Given the description of an element on the screen output the (x, y) to click on. 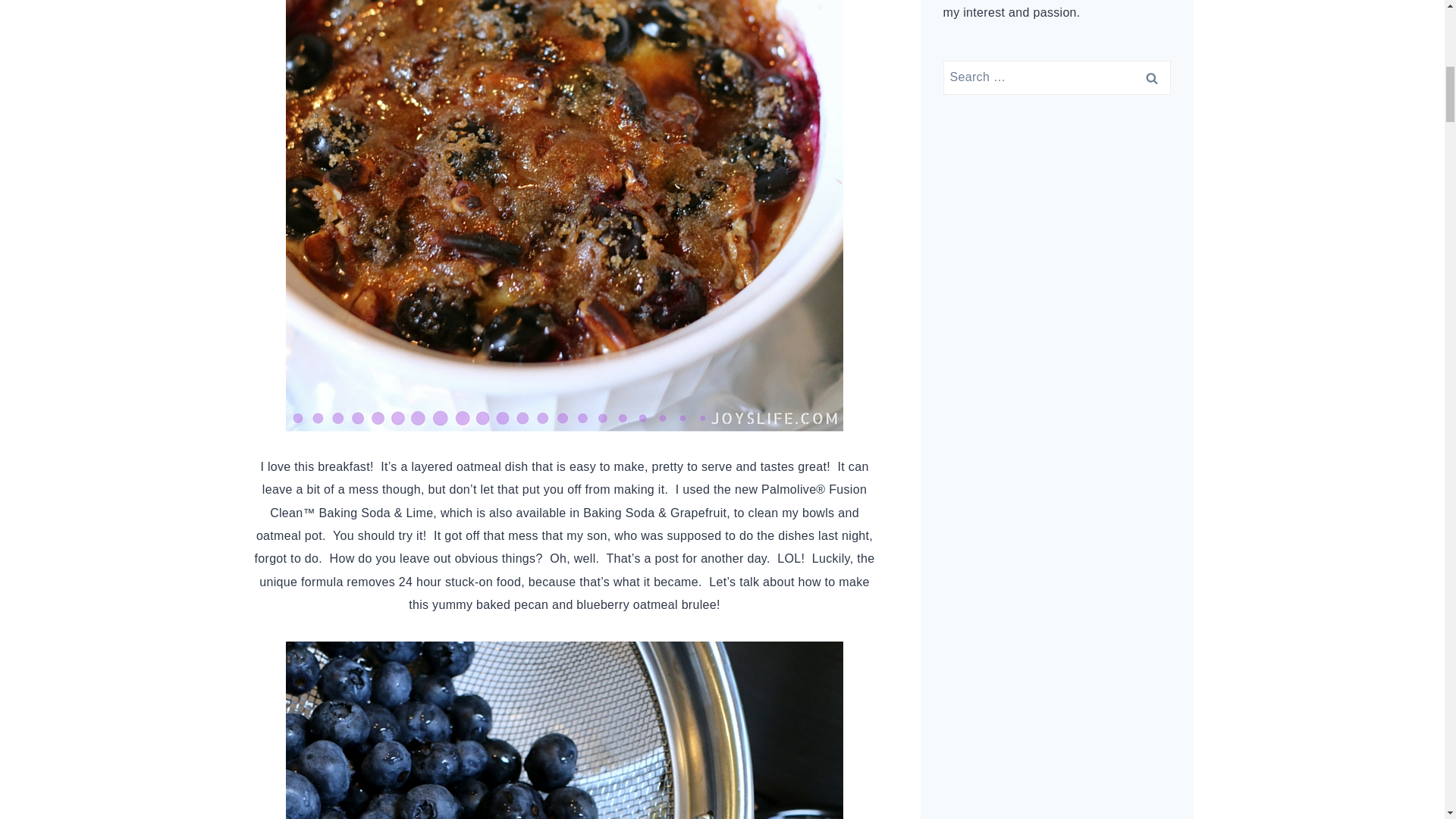
Search (1151, 77)
Search (1151, 77)
